Given the description of an element on the screen output the (x, y) to click on. 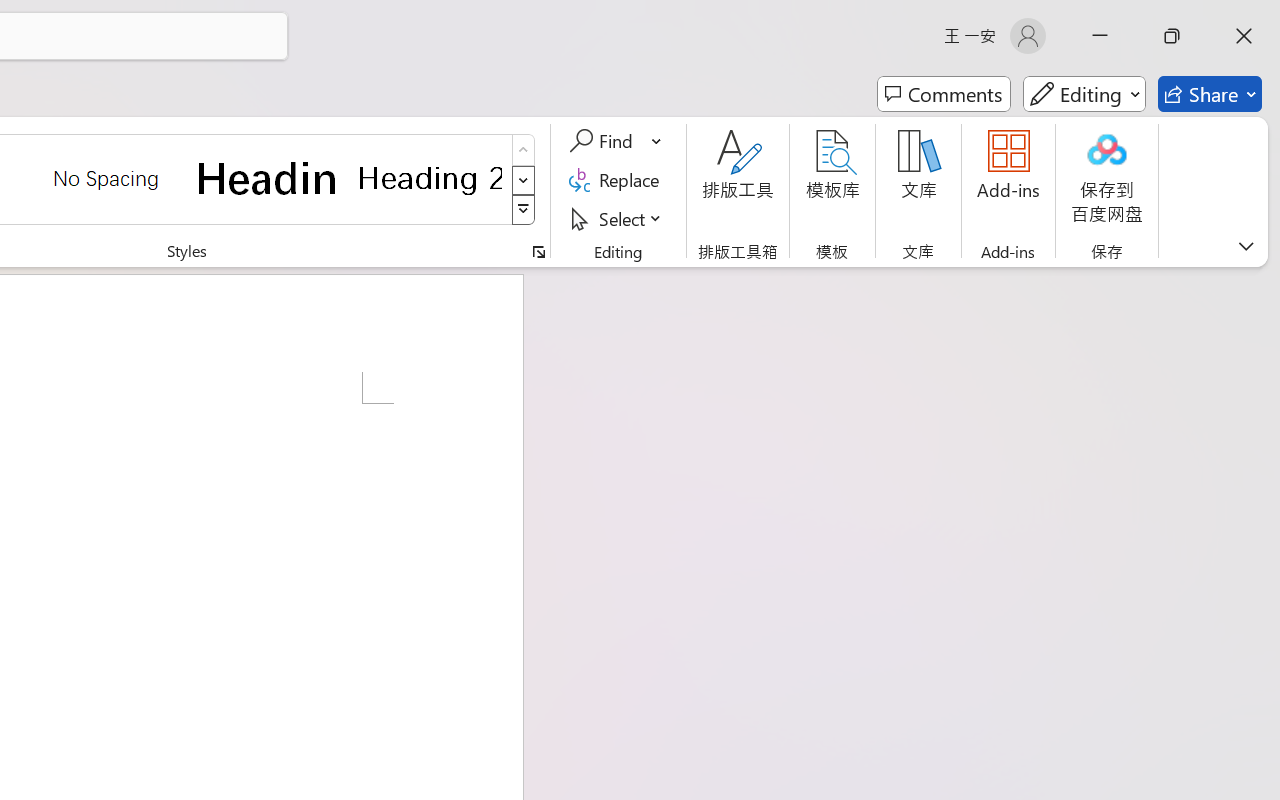
Select (618, 218)
